Given the description of an element on the screen output the (x, y) to click on. 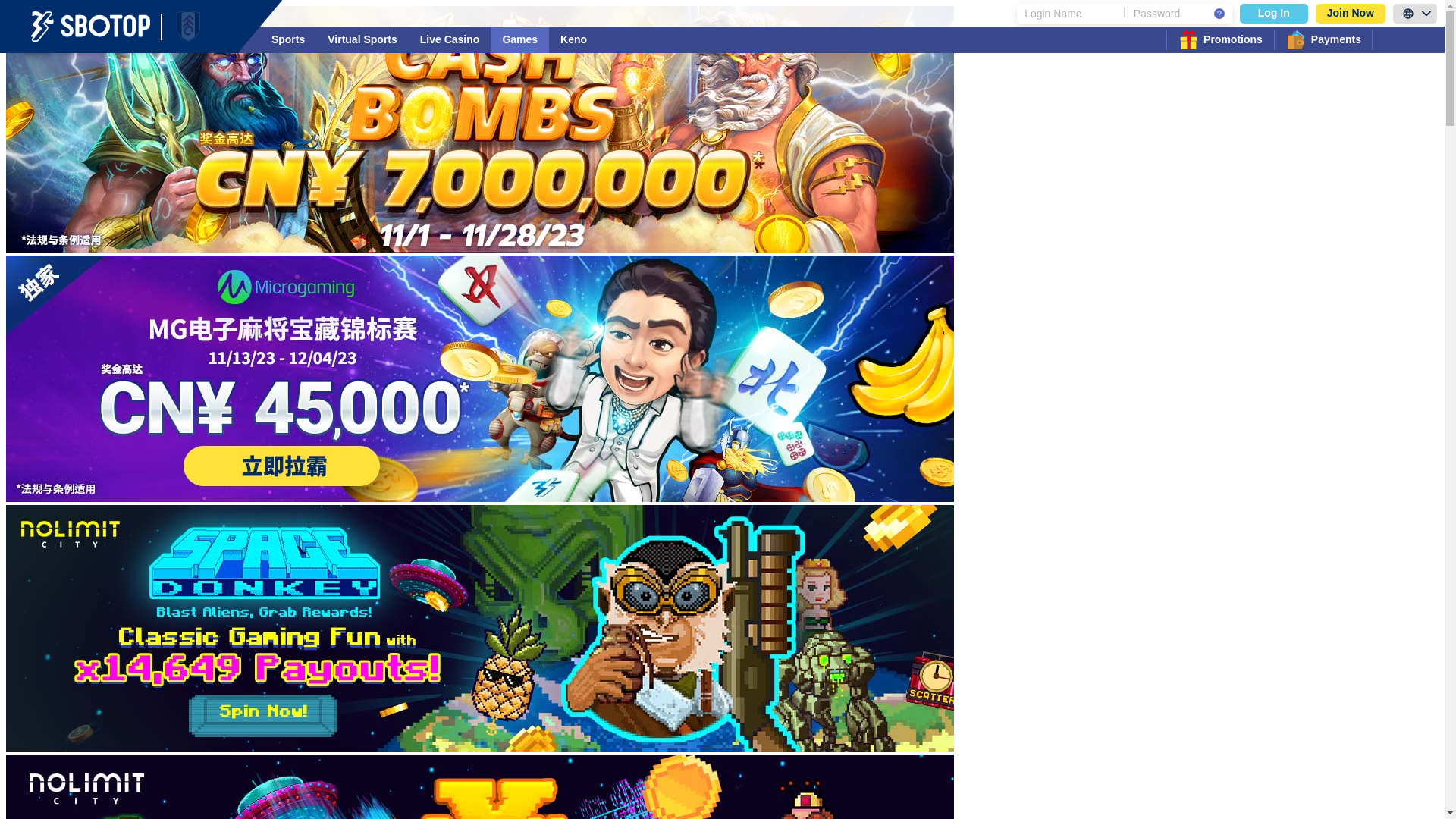
Virtual Sports Element type: text (362, 39)
Keno Element type: text (573, 39)
Log In Element type: text (1273, 12)
Sports Element type: text (288, 39)
Live Casino Element type: text (449, 39)
Payments Element type: text (1323, 39)
Promotions Element type: text (1220, 39)
Join Now Element type: text (1350, 12)
Forgot account / password? Element type: hover (1219, 12)
Games Element type: text (519, 39)
